Given the description of an element on the screen output the (x, y) to click on. 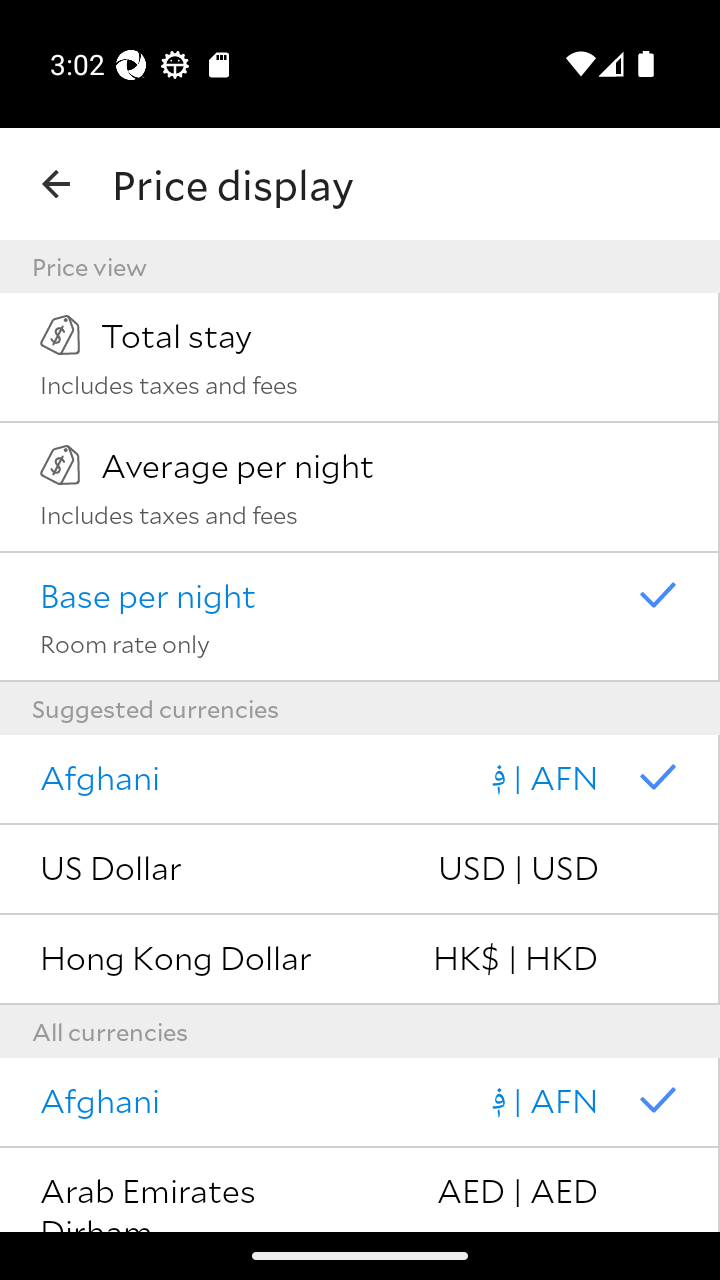
navigation_button (56, 184)
Average per night Includes taxes and fees (360, 487)
Base per night Room rate only (360, 617)
Afghani ‎؋ | AFN (360, 779)
US Dollar USD | USD (360, 870)
Hong Kong Dollar HK$ | HKD (360, 959)
Afghani ‎؋ | AFN (360, 1103)
Arab Emirates Dirham AED | AED (360, 1189)
